Given the description of an element on the screen output the (x, y) to click on. 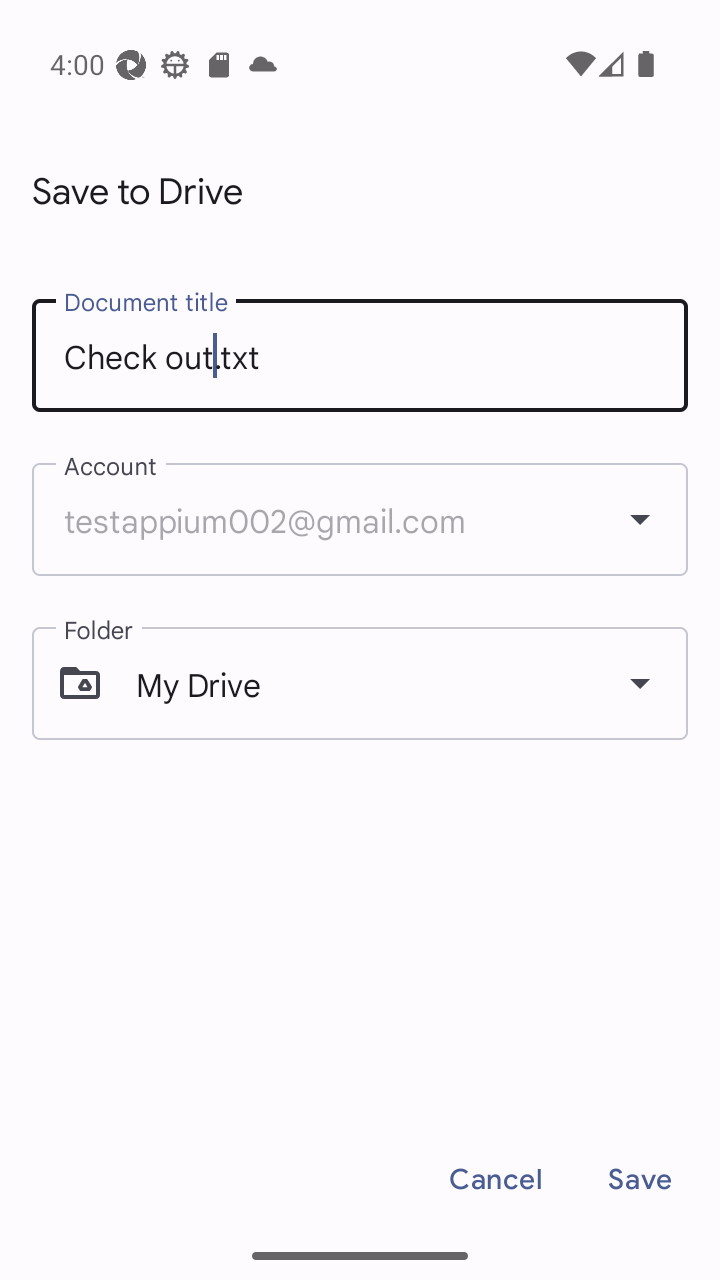
Check out.txt (359, 355)
Show dropdown menu (639, 519)
My Drive My Drive. Click to change. (359, 683)
Show dropdown menu (639, 682)
Cancel (496, 1179)
Save (640, 1179)
